Given the description of an element on the screen output the (x, y) to click on. 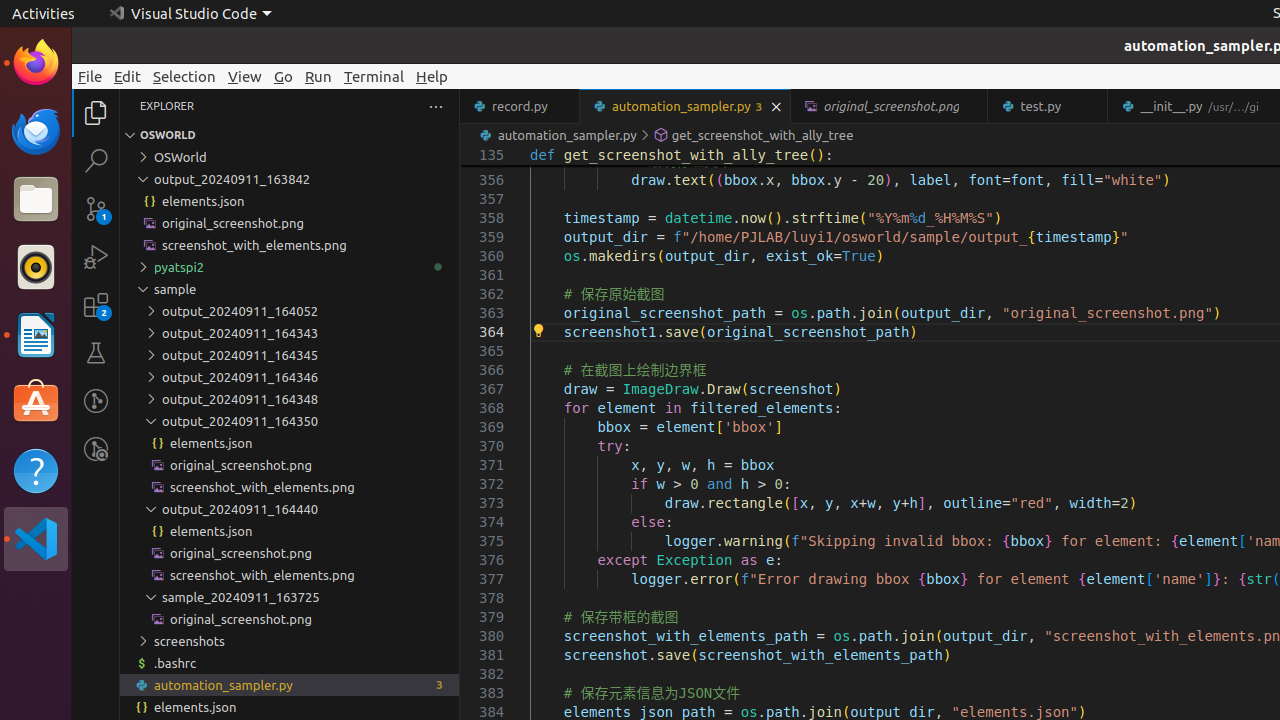
original_screenshot.png Element type: tree-item (289, 619)
Explorer Section: osworld Element type: push-button (289, 135)
output_20240911_164440 Element type: tree-item (289, 509)
